Given the description of an element on the screen output the (x, y) to click on. 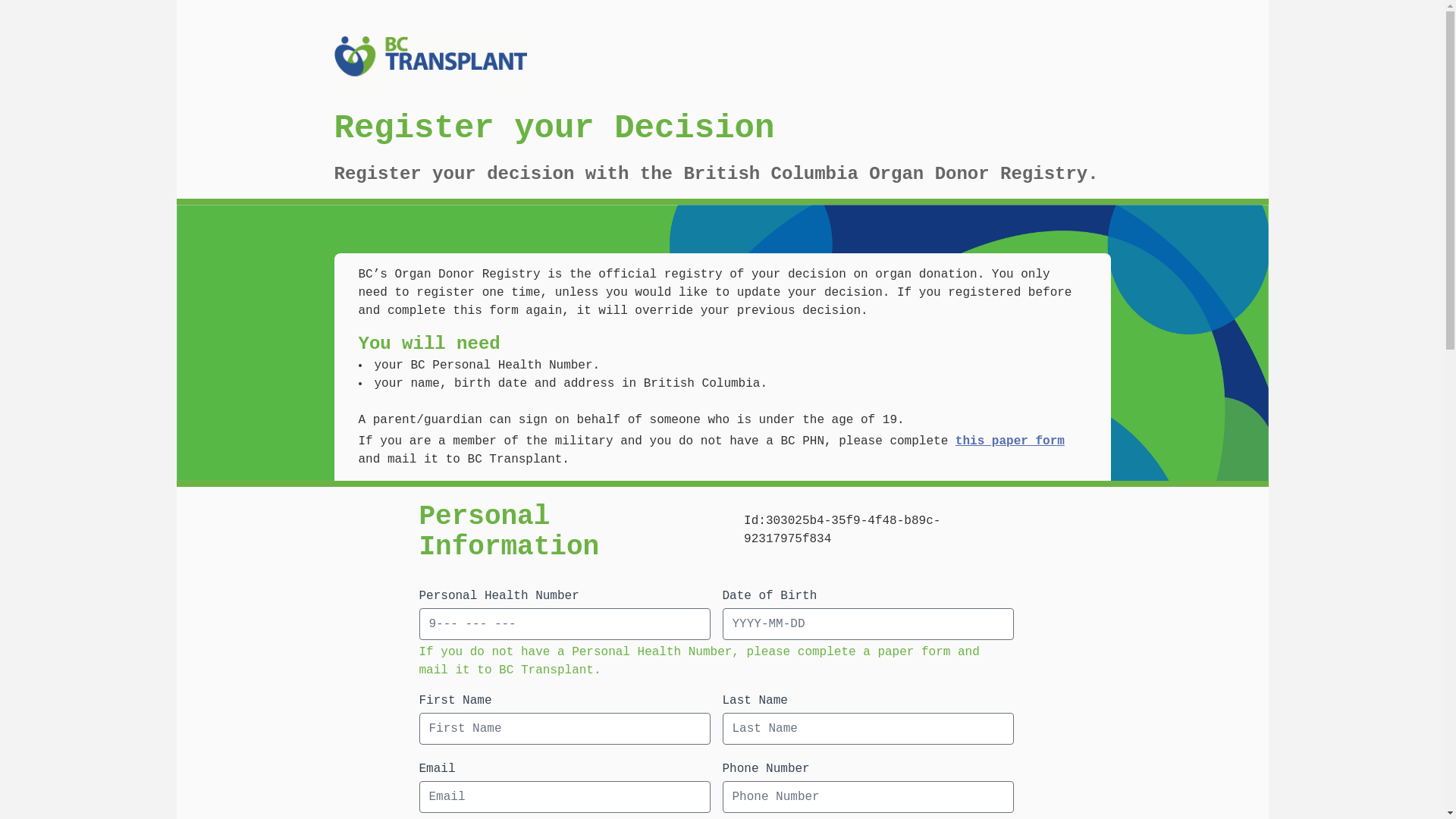
this paper form Element type: text (1009, 441)
